Given the description of an element on the screen output the (x, y) to click on. 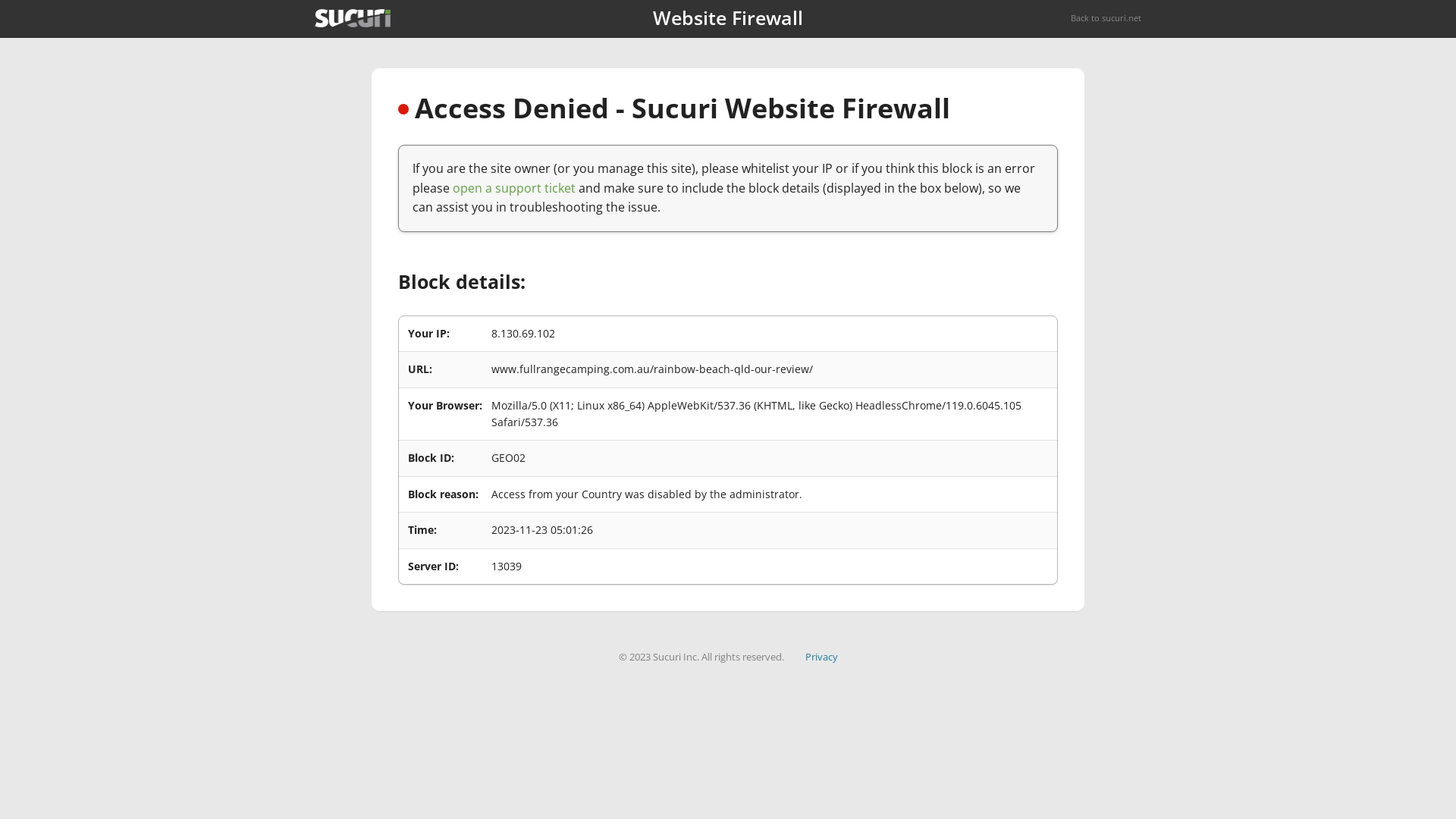
open a support ticket Element type: text (513, 187)
Back to sucuri.net Element type: text (1105, 18)
Privacy Element type: text (821, 656)
